Given the description of an element on the screen output the (x, y) to click on. 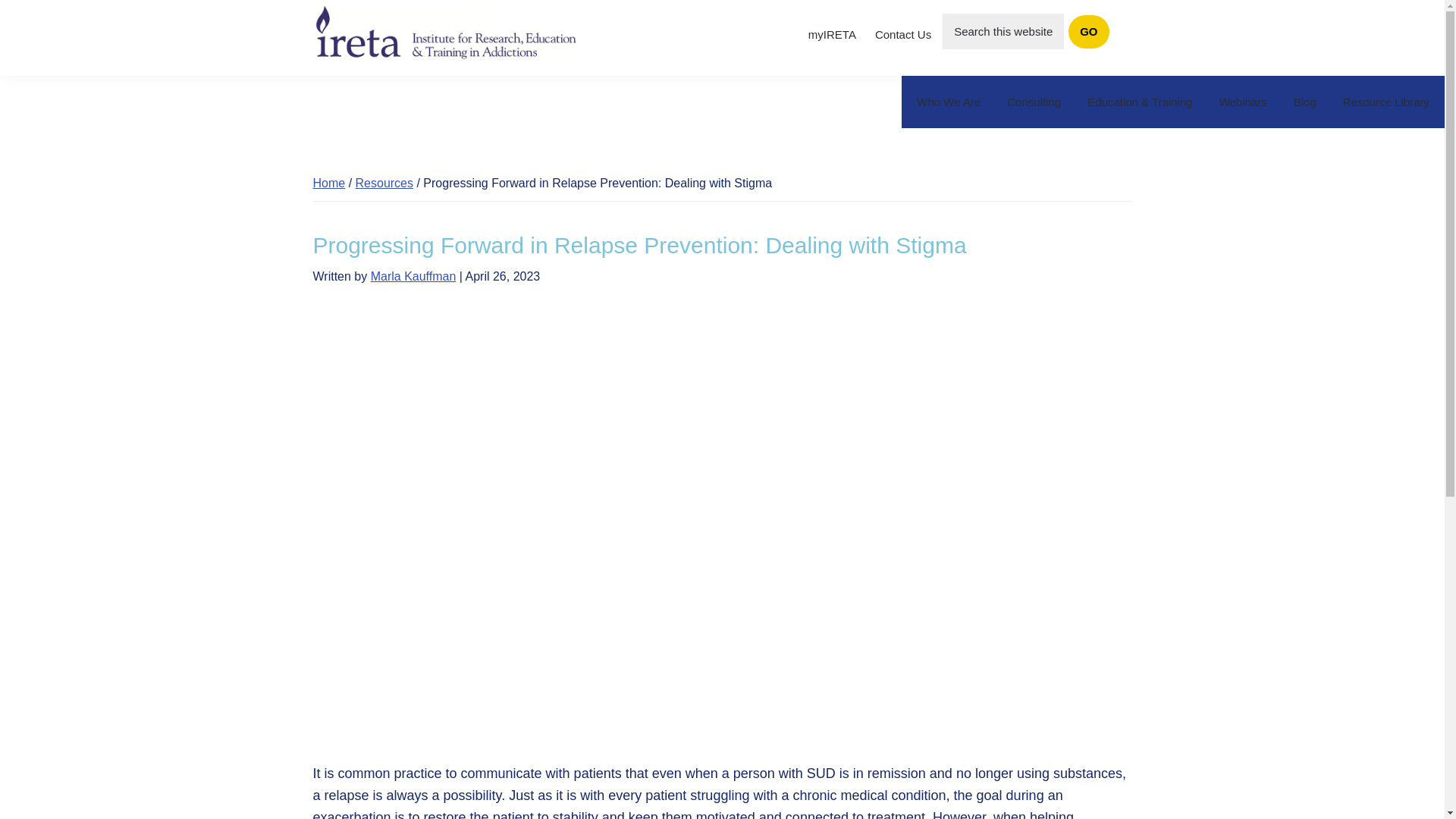
Home (329, 182)
myIRETA (832, 35)
Go (1088, 31)
Resources (384, 182)
Go (1088, 31)
Who We Are (948, 101)
Blog (1304, 101)
Resource Library (1386, 101)
Consulting (1033, 101)
Marla Kauffman (414, 276)
Webinars (1243, 101)
Go (1088, 31)
Contact Us (903, 35)
